Given the description of an element on the screen output the (x, y) to click on. 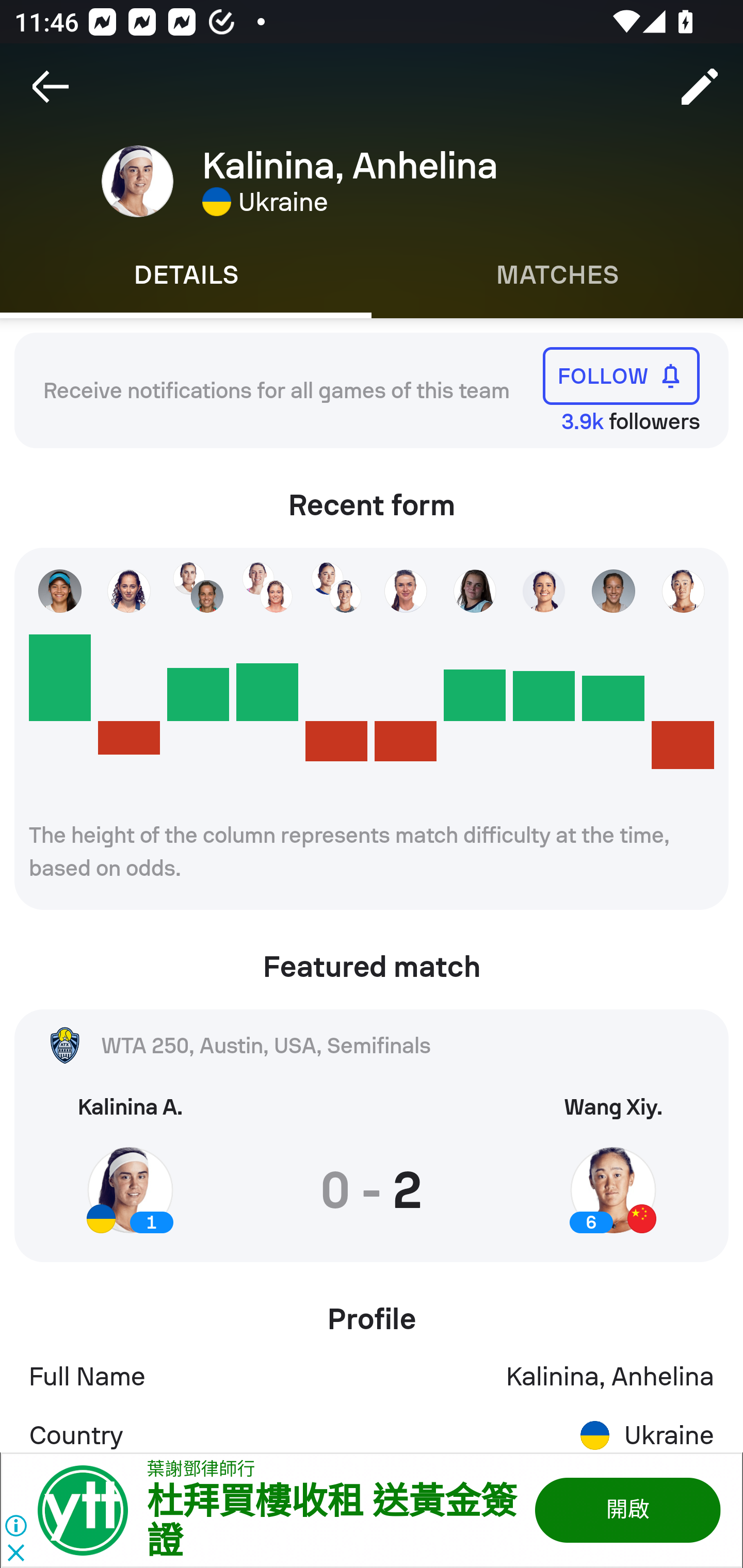
Navigate up (50, 86)
Edit (699, 86)
Matches MATCHES (557, 275)
FOLLOW (621, 375)
葉謝鄧律師行 (200, 1469)
開啟 (626, 1509)
杜拜買樓收租 送黃金簽 證 杜拜買樓收租 送黃金簽 證 (330, 1521)
